Given the description of an element on the screen output the (x, y) to click on. 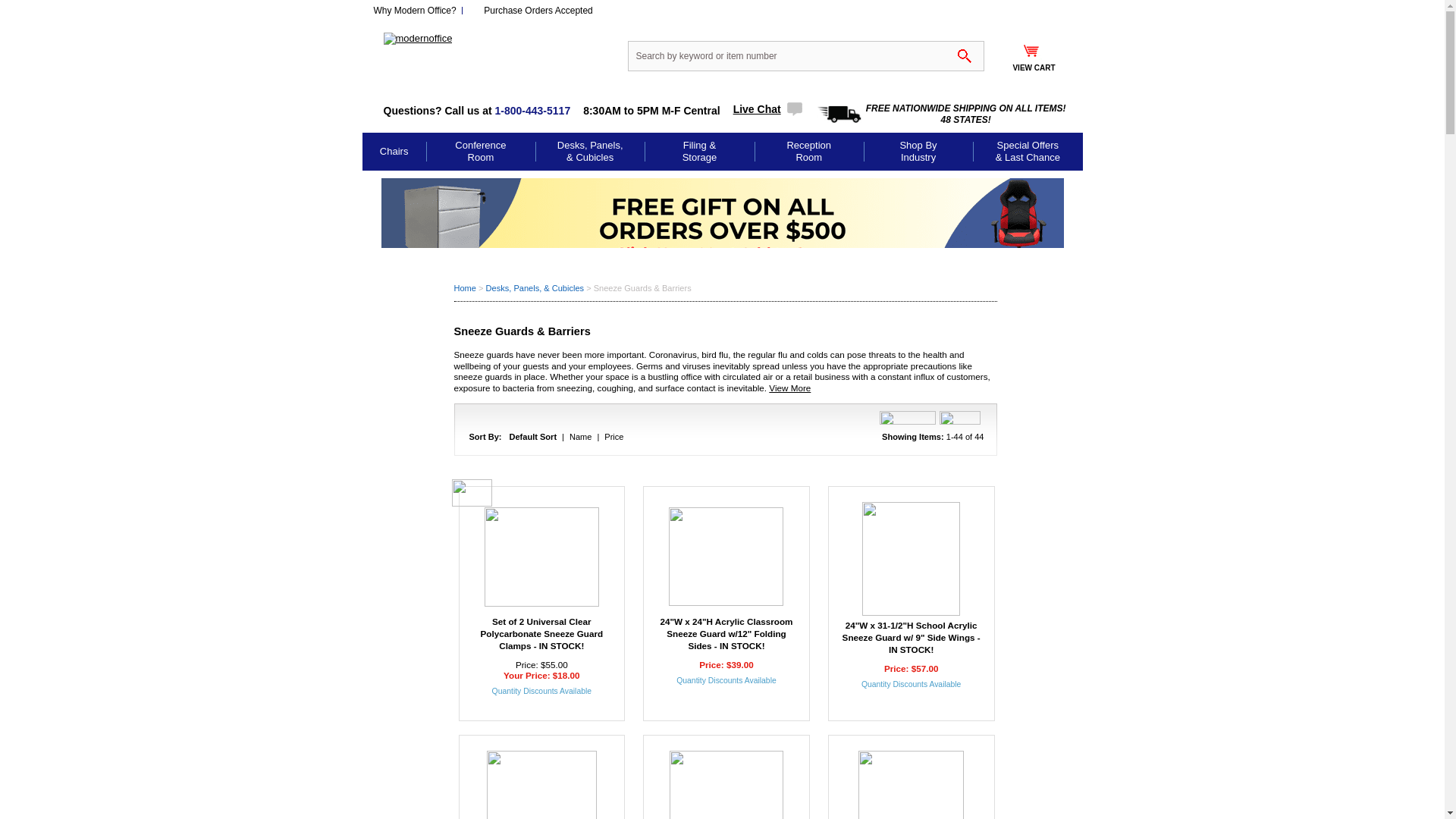
VIEW CART (1033, 61)
Search by keyword or item number (805, 55)
Purchase Orders Accepted (537, 9)
Why Modern Office? (413, 9)
Chairs (394, 151)
Search by keyword or item number (805, 55)
Conference Room (480, 151)
Live Chat (768, 109)
